Given the description of an element on the screen output the (x, y) to click on. 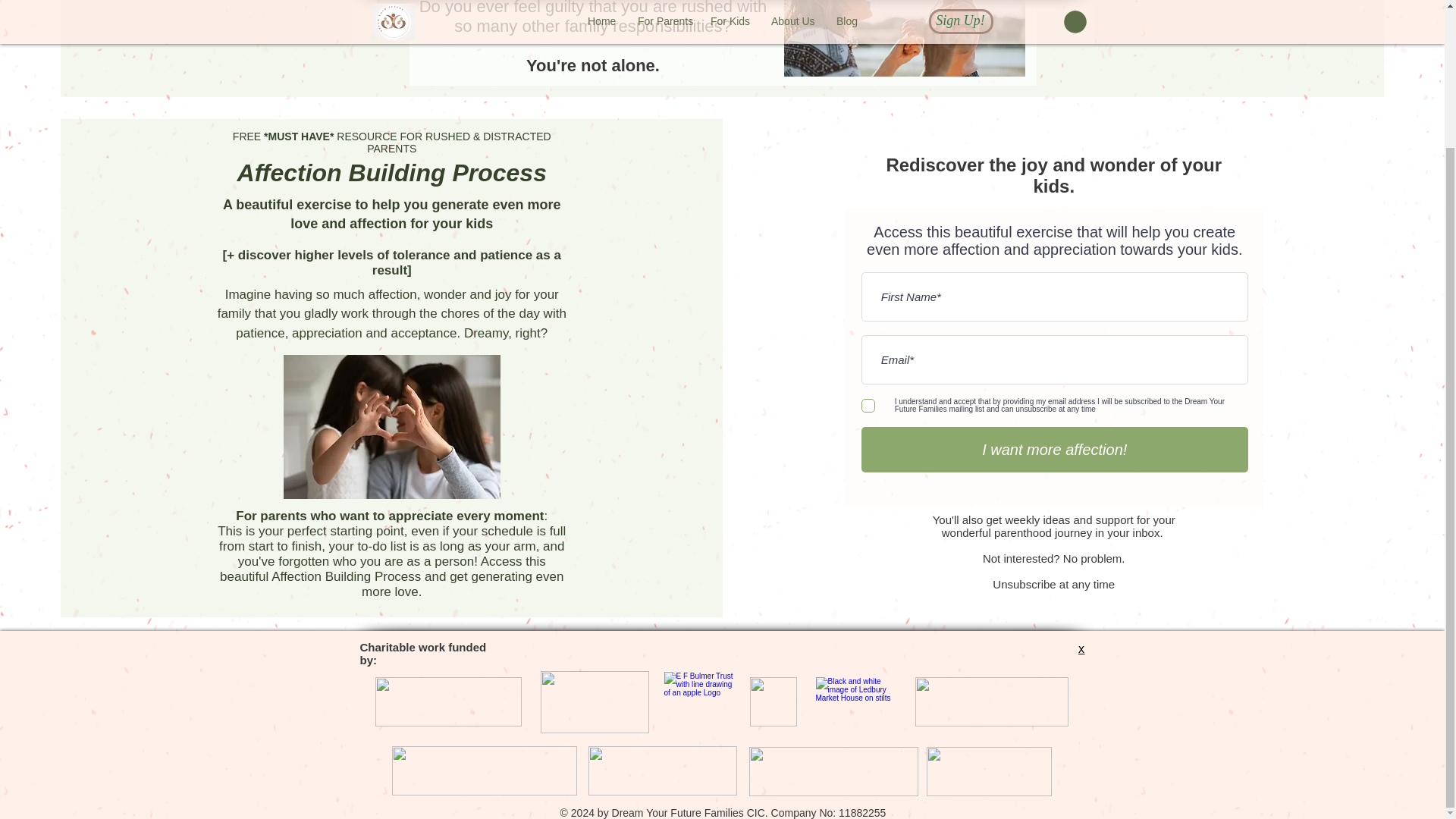
Ledbury-Town-Council.png (854, 701)
platform.png (833, 771)
Aviva logo.png (483, 770)
Comic Relief Groundworks logo.png (593, 701)
Natioal Lottery Community Fund (447, 701)
Herefordshire Community Foundation (988, 771)
EF-Bulmer-Logo (698, 701)
I want more affection! (1054, 449)
Talk Community Banner 2.png (990, 701)
tesco community grants.png (662, 770)
